Given the description of an element on the screen output the (x, y) to click on. 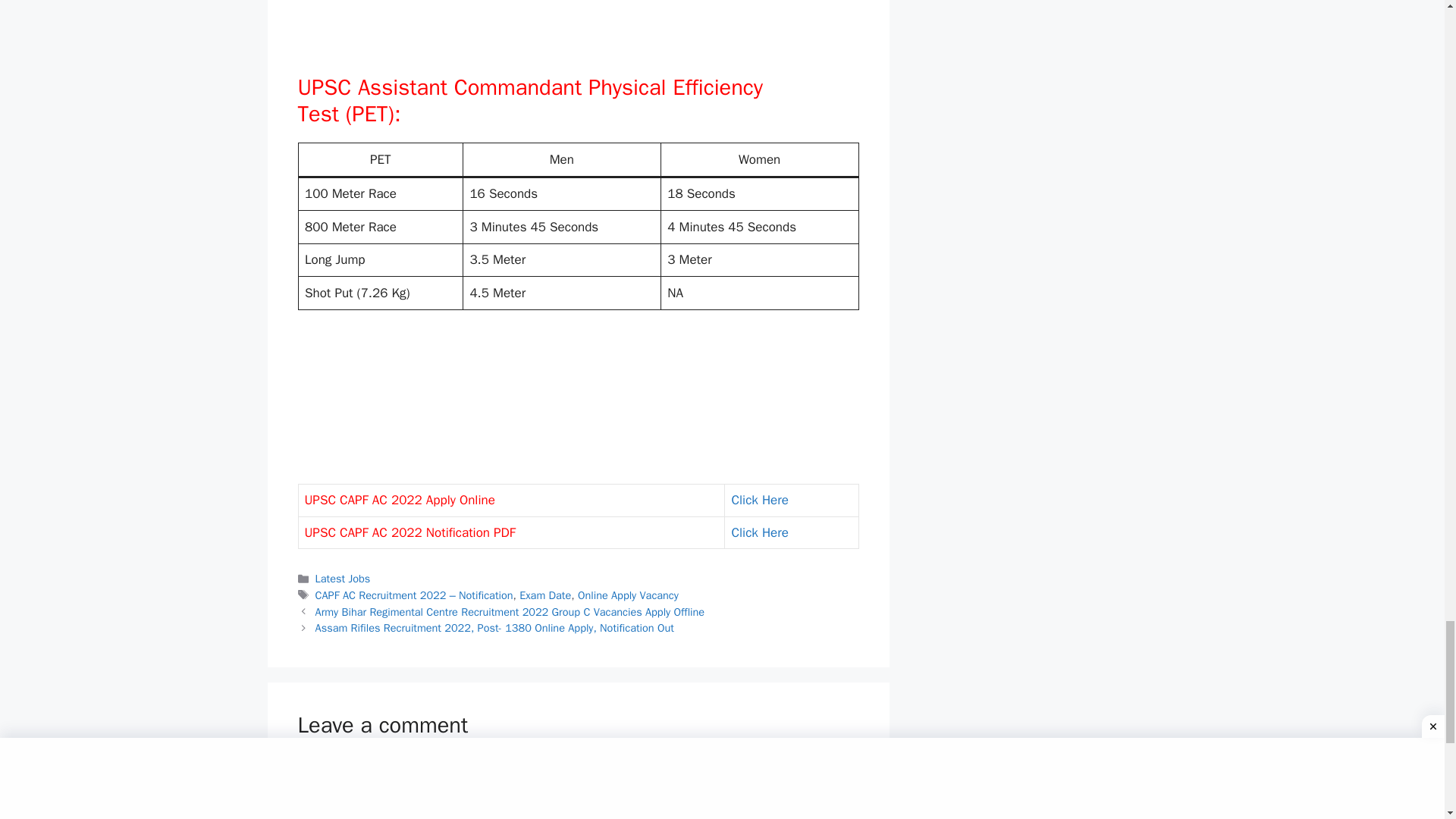
Online Apply Vacancy (628, 594)
Click Here (758, 532)
Latest Jobs (343, 578)
Exam Date (544, 594)
Click Here (758, 499)
